Given the description of an element on the screen output the (x, y) to click on. 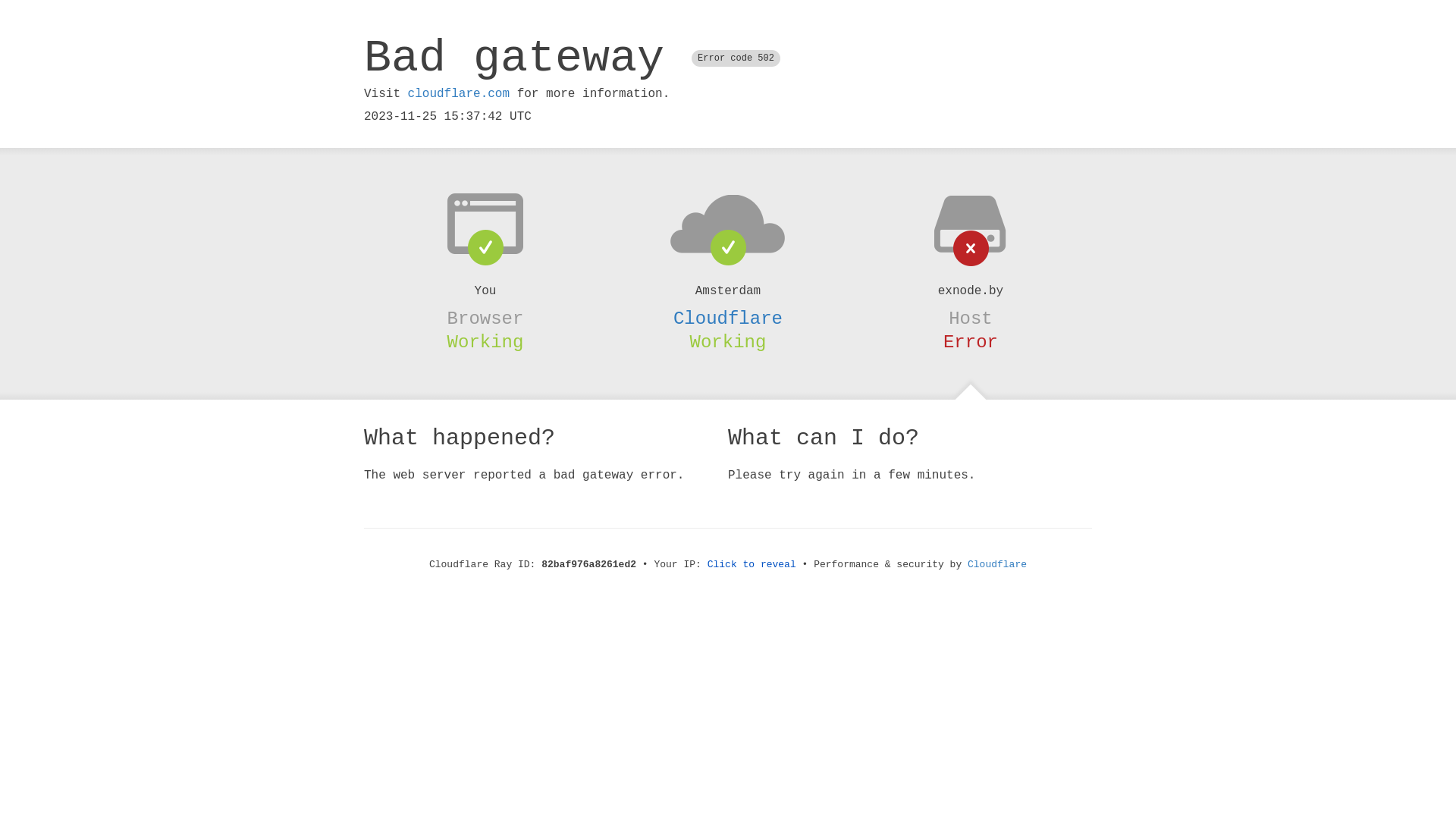
Cloudflare Element type: text (996, 564)
Cloudflare Element type: text (727, 318)
cloudflare.com Element type: text (458, 93)
Click to reveal Element type: text (751, 564)
